Given the description of an element on the screen output the (x, y) to click on. 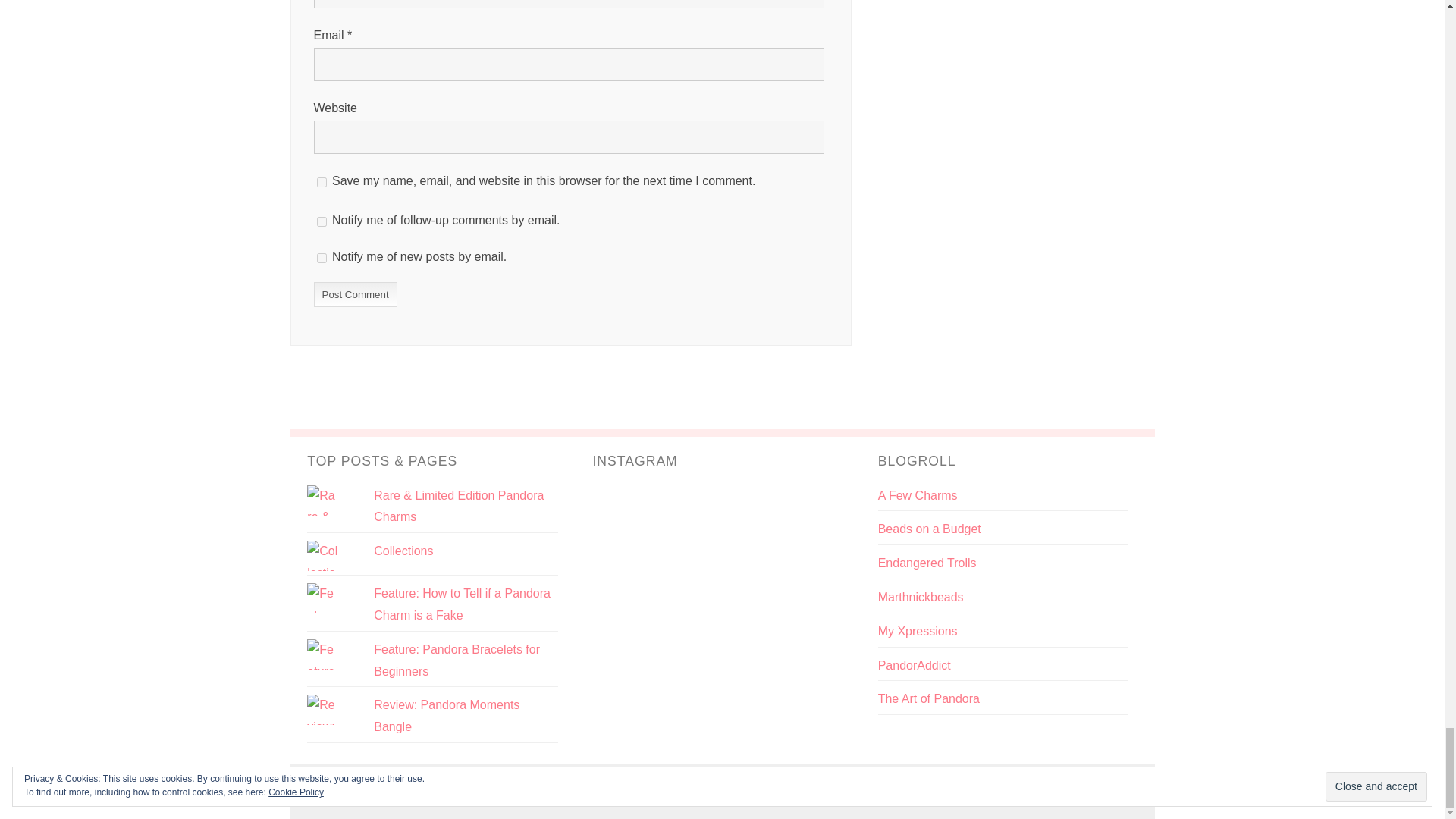
Collections (403, 550)
subscribe (321, 221)
yes (321, 182)
Post Comment (355, 294)
Feature: Pandora Bracelets for Beginners (457, 660)
Feature: How to Tell if a Pandora Charm is a Fake (462, 604)
subscribe (321, 257)
